Given the description of an element on the screen output the (x, y) to click on. 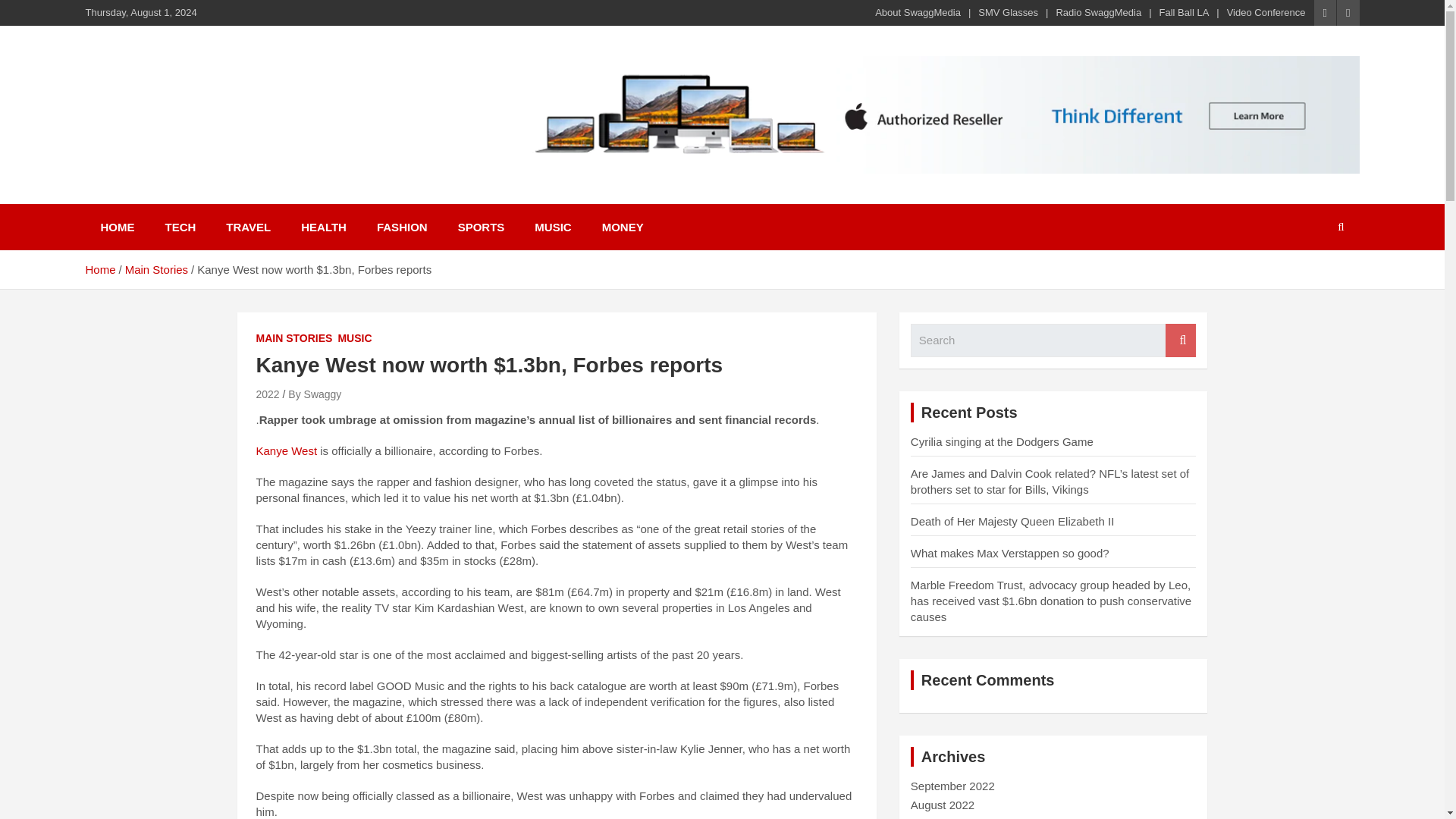
Main Stories (156, 269)
MUSIC (552, 226)
MUSIC (354, 338)
Home (99, 269)
MAIN STORIES (294, 338)
Kanye West (286, 450)
HEALTH (323, 226)
Fall Ball LA (1183, 12)
TECH (180, 226)
SMV Glasses (1008, 12)
FASHION (401, 226)
TRAVEL (248, 226)
HOME (116, 226)
SPORTS (480, 226)
